Given the description of an element on the screen output the (x, y) to click on. 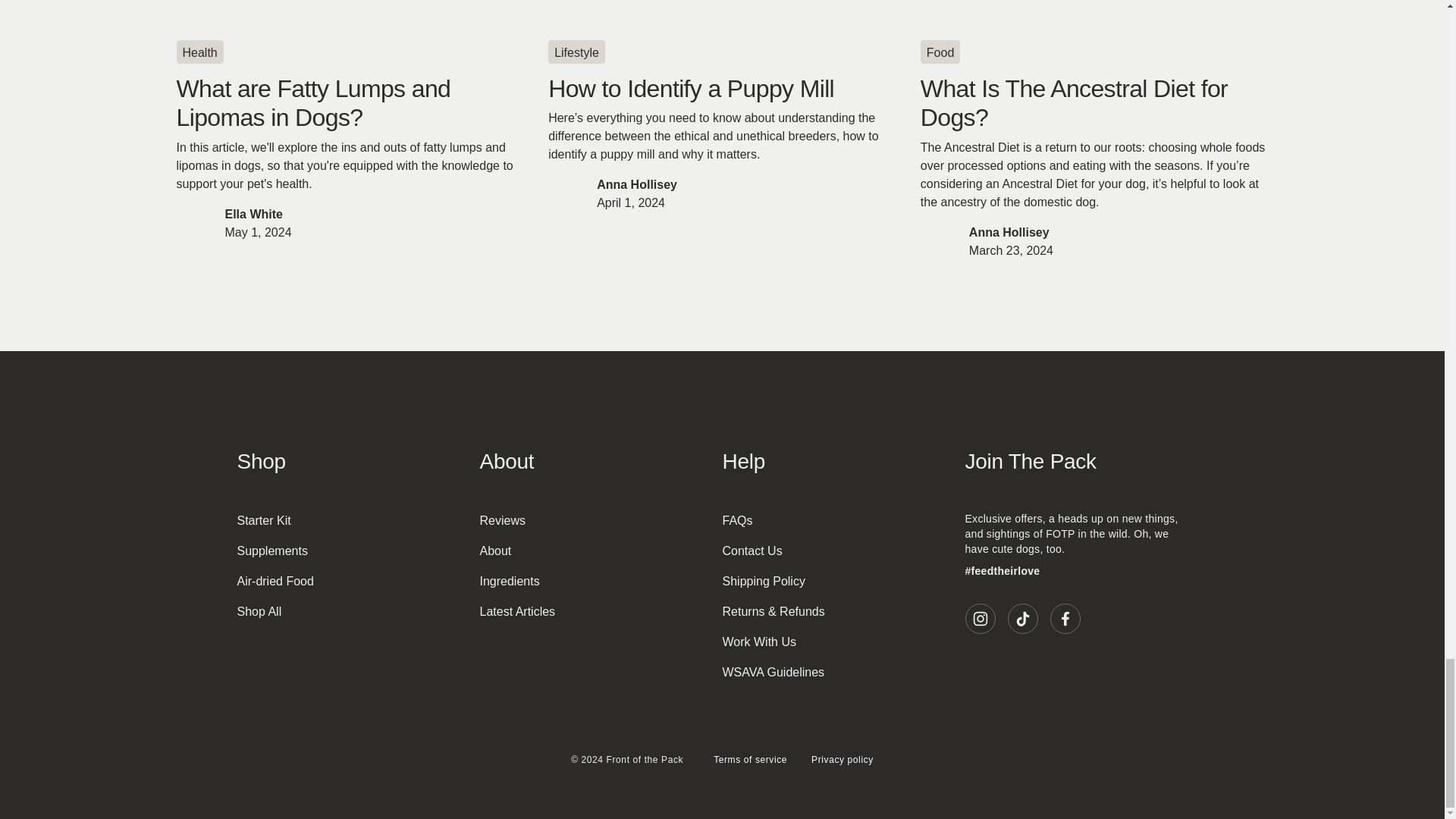
Instagram (978, 618)
TikTok (1021, 618)
Facebook (1064, 618)
